Given the description of an element on the screen output the (x, y) to click on. 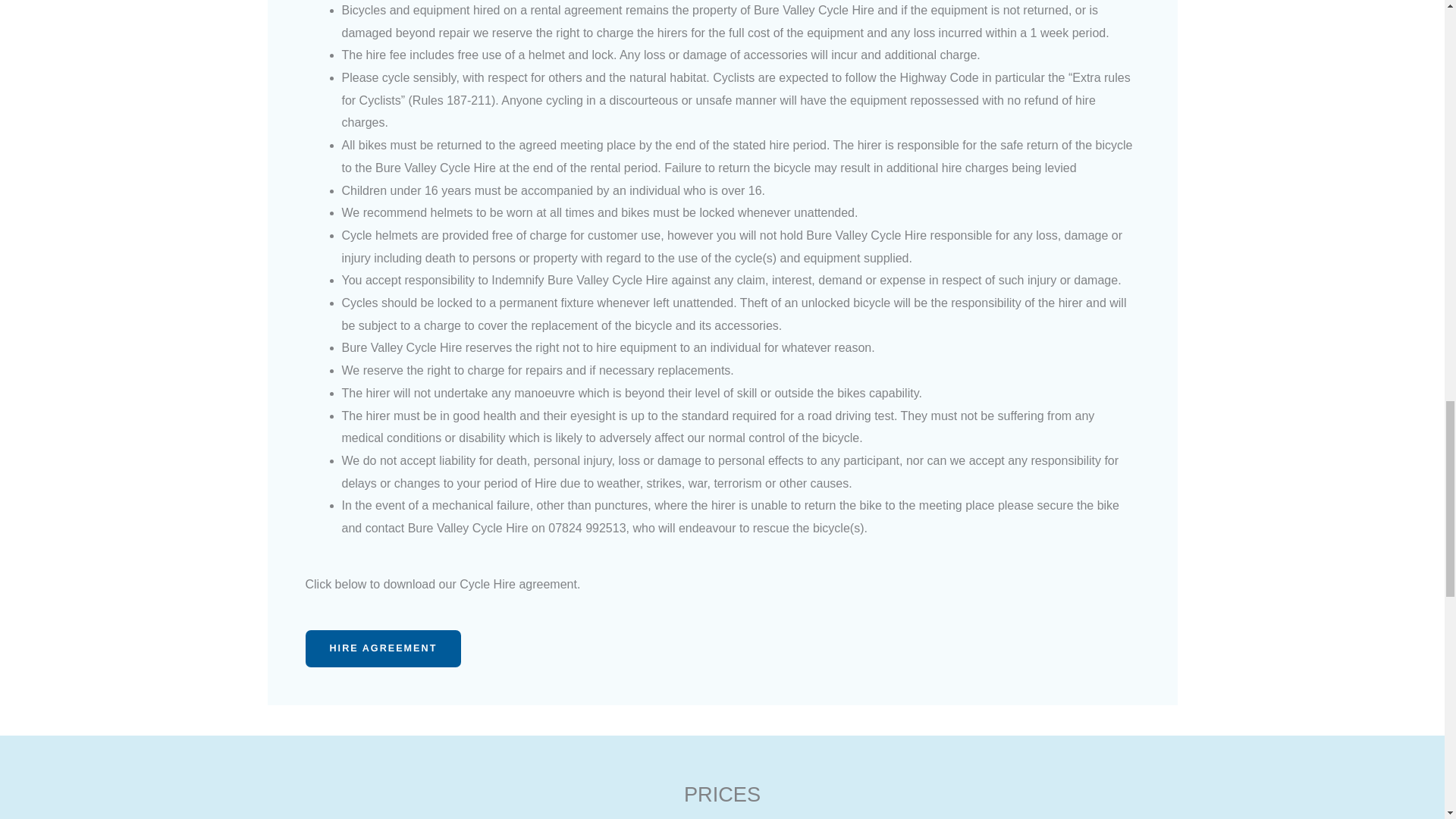
HIRE AGREEMENT (382, 648)
